Given the description of an element on the screen output the (x, y) to click on. 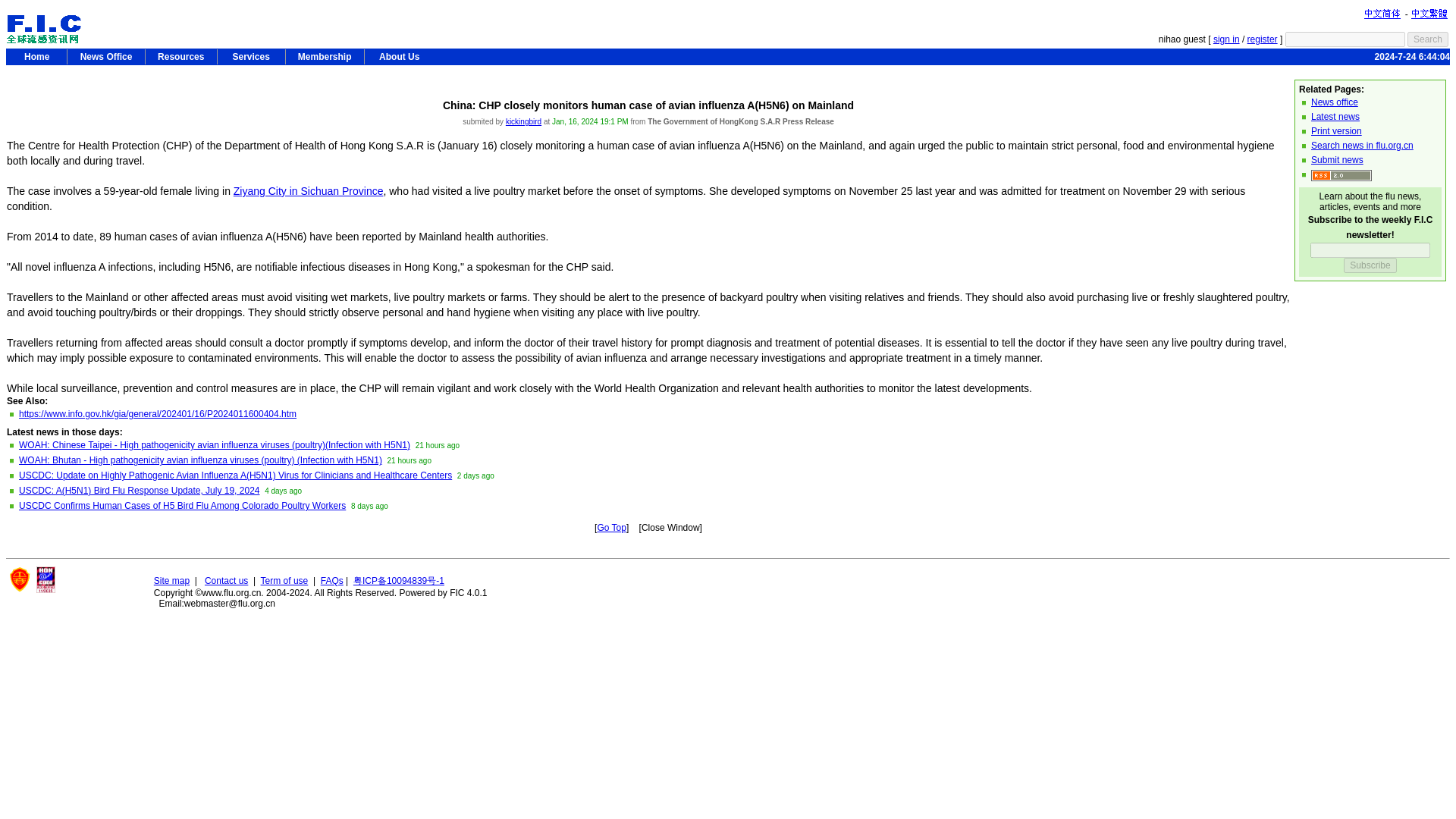
kickingbird (523, 121)
Close Window (671, 527)
Term of use (284, 580)
    News Office     (105, 56)
Latest news (1335, 116)
Ziyang City in Sichuan Province (308, 191)
Submit news (1336, 159)
     Services      (250, 56)
register (1262, 39)
     About Us      (399, 56)
Search news in flu.org.cn (1362, 145)
    Resources     (180, 56)
News office (1334, 102)
